Given the description of an element on the screen output the (x, y) to click on. 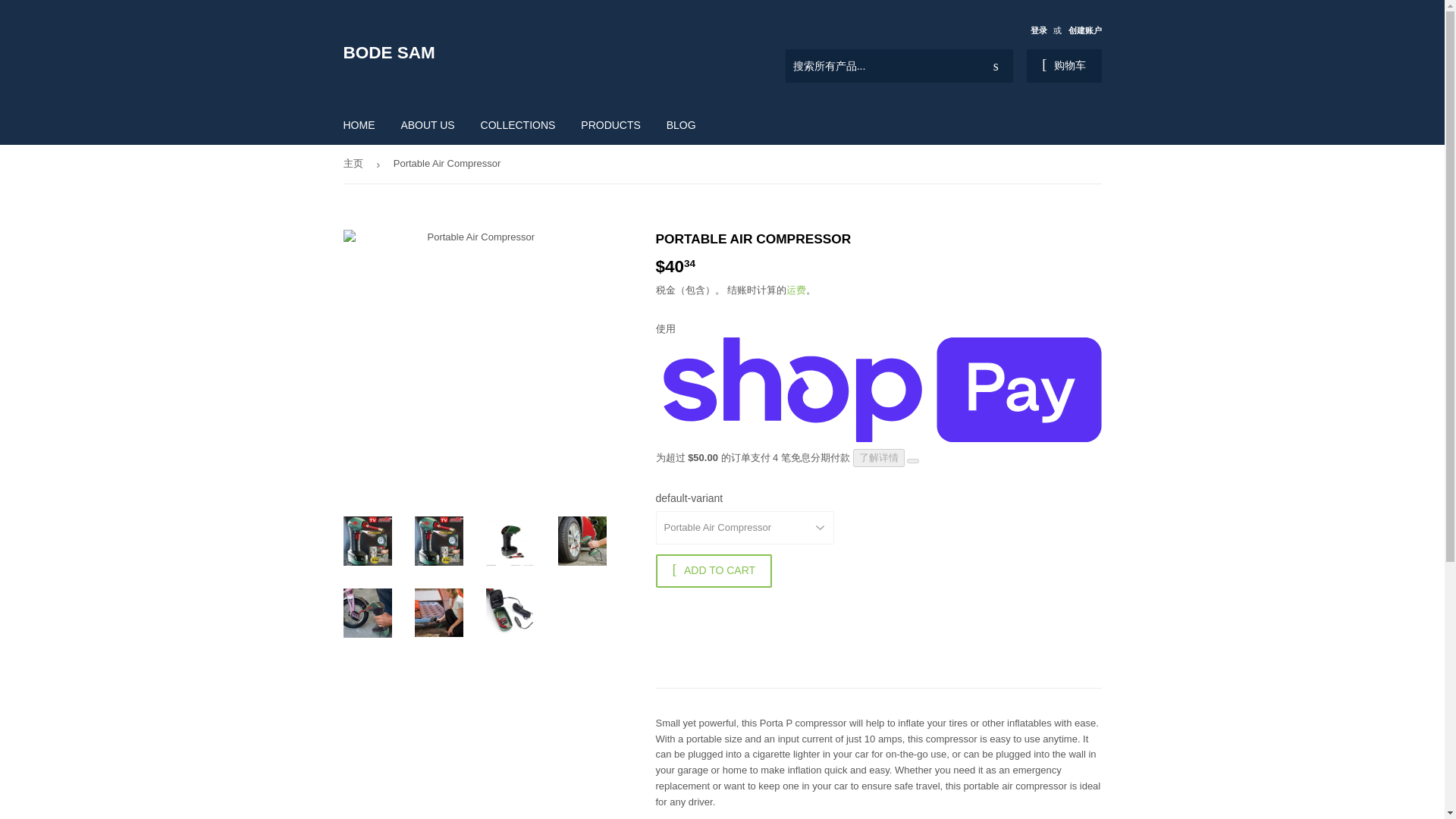
ADD TO CART (713, 571)
COLLECTIONS (517, 124)
ABOUT US (426, 124)
BODE SAM (532, 52)
BLOG (681, 124)
PRODUCTS (610, 124)
HOME (359, 124)
